Given the description of an element on the screen output the (x, y) to click on. 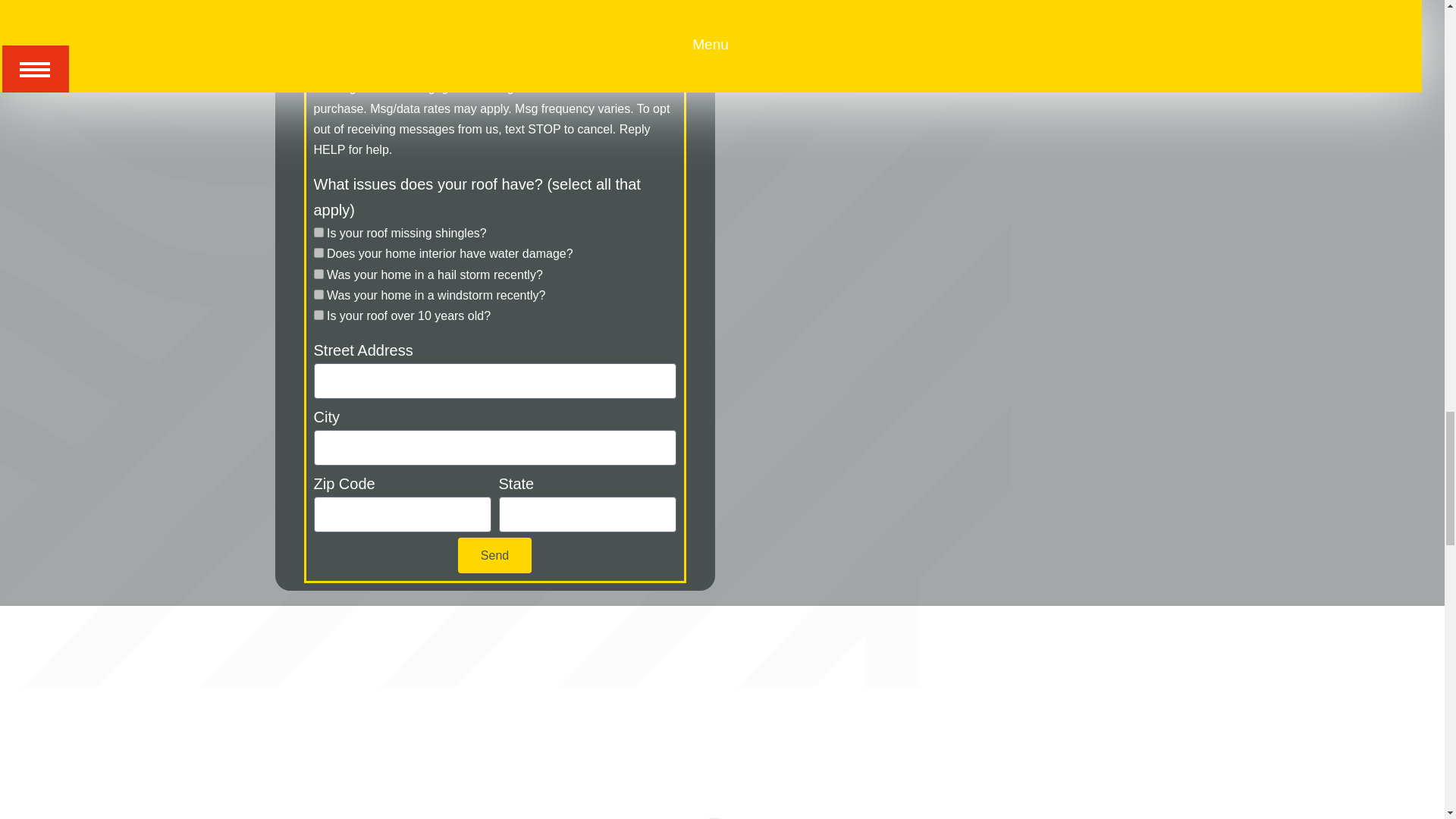
Send (494, 555)
Is your roof over 10 years old? (318, 315)
Was your home in a windstorm recently? (318, 294)
Was your home in a hail storm recently? (318, 274)
Does your home interior have water damage? (318, 252)
Is your roof missing shingles? (318, 232)
